Given the description of an element on the screen output the (x, y) to click on. 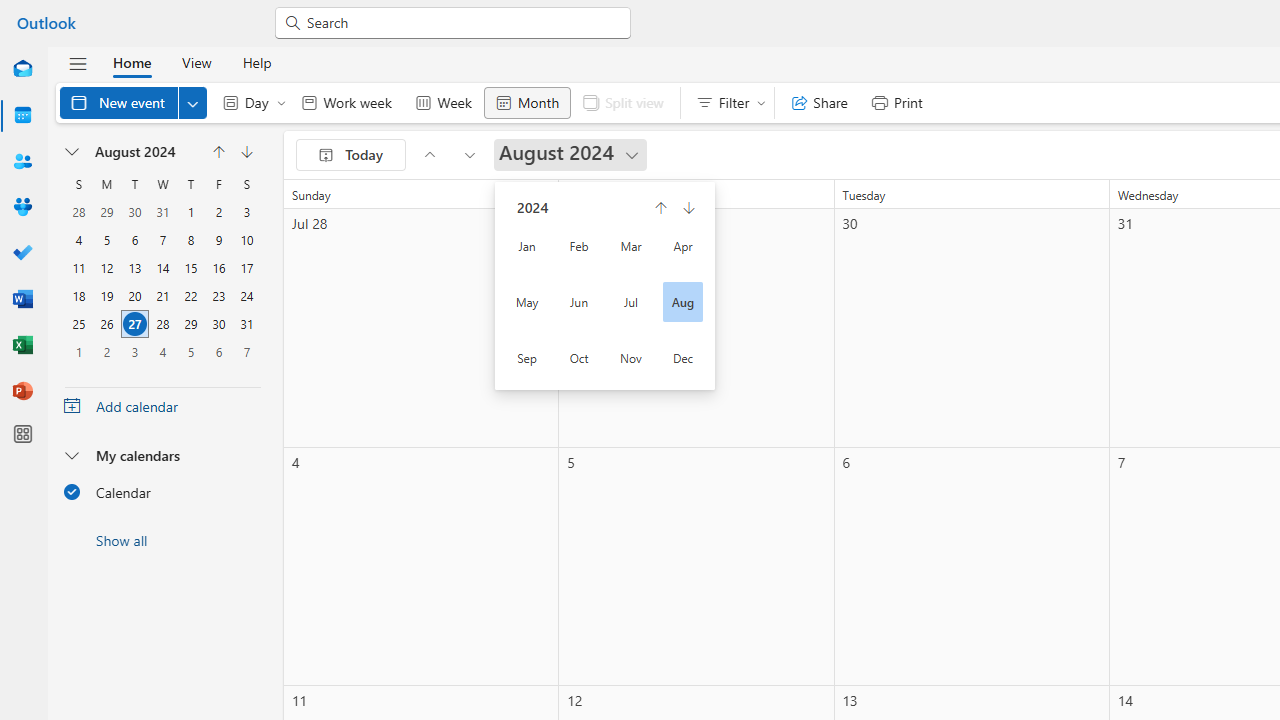
Groups (22, 207)
Month (527, 102)
12, August, 2024 (106, 268)
7, September, 2024 (246, 351)
23, August, 2024 (218, 295)
Split view (622, 102)
View (196, 61)
4, August, 2024 (78, 239)
29, August, 2024 (191, 323)
12, August, 2024 (107, 268)
16, August, 2024 (218, 268)
1, August, 2024 (191, 211)
30, August, 2024 (218, 323)
Share (819, 102)
